Given the description of an element on the screen output the (x, y) to click on. 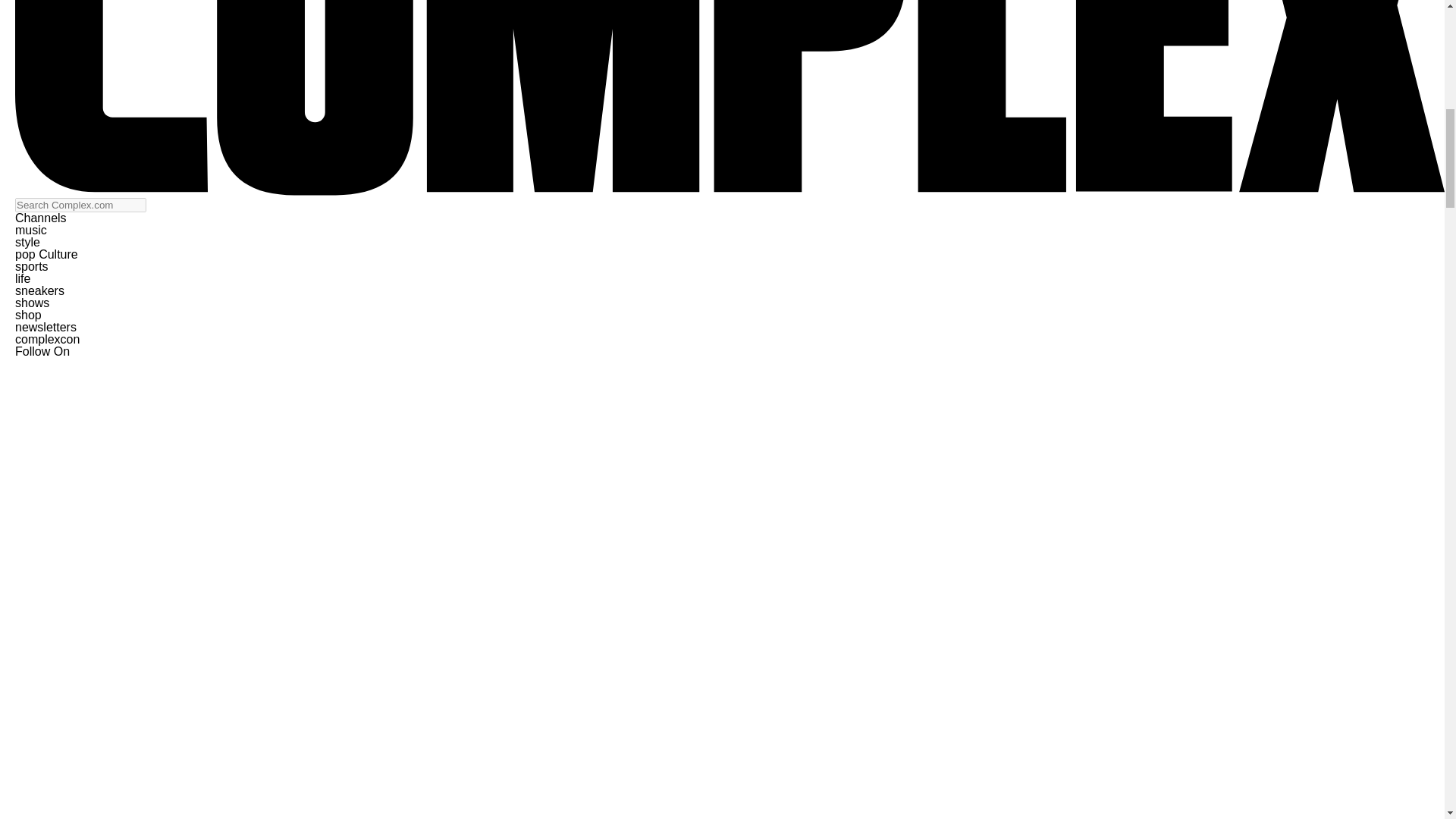
sneakers (39, 290)
newsletters (45, 327)
shop (28, 314)
complexcon (47, 338)
sports (31, 266)
shows (31, 302)
life (22, 278)
music (30, 229)
style (27, 241)
pop Culture (46, 254)
